Given the description of an element on the screen output the (x, y) to click on. 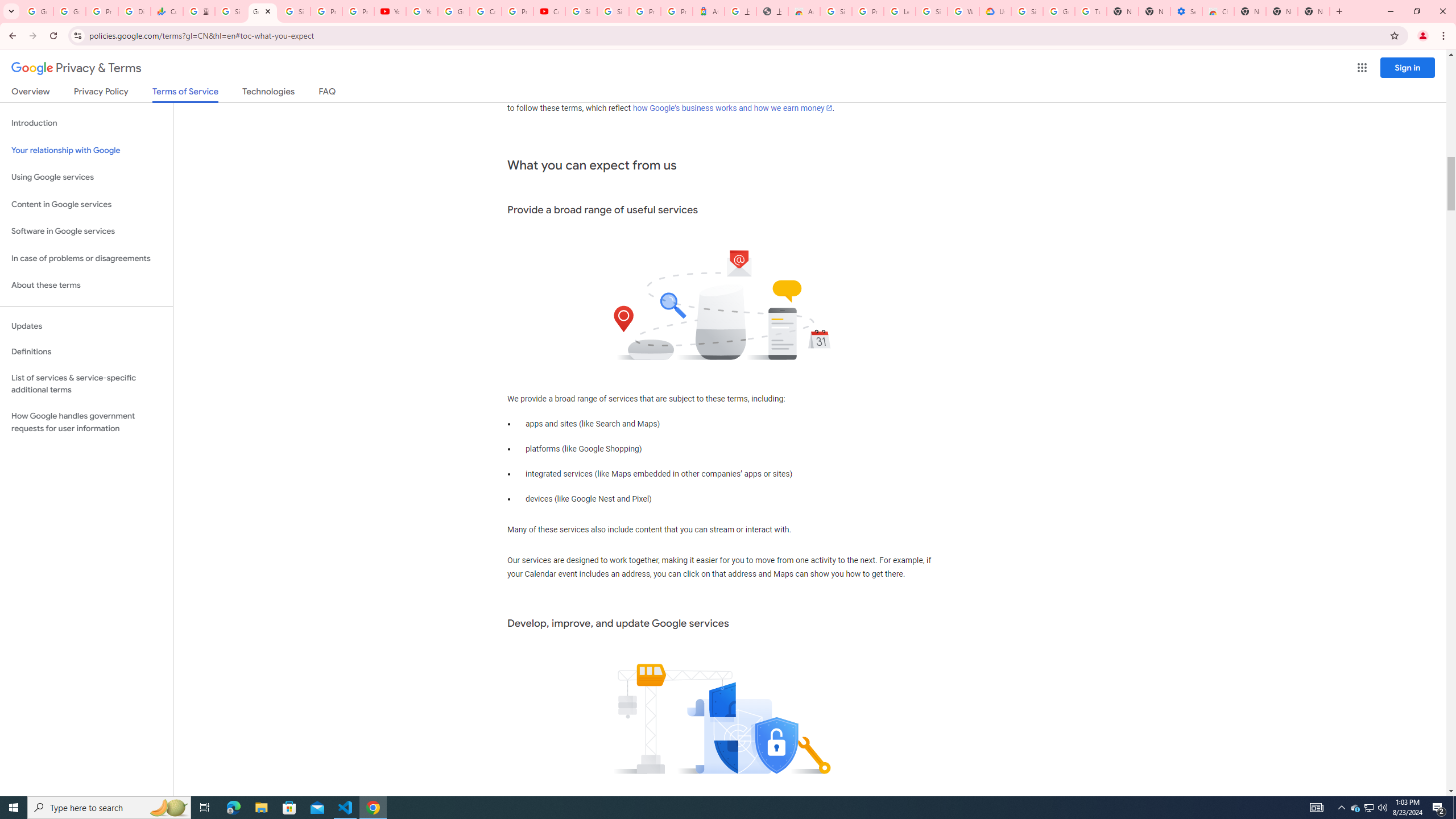
New Tab (1313, 11)
Atour Hotel - Google hotels (708, 11)
YouTube (421, 11)
